Given the description of an element on the screen output the (x, y) to click on. 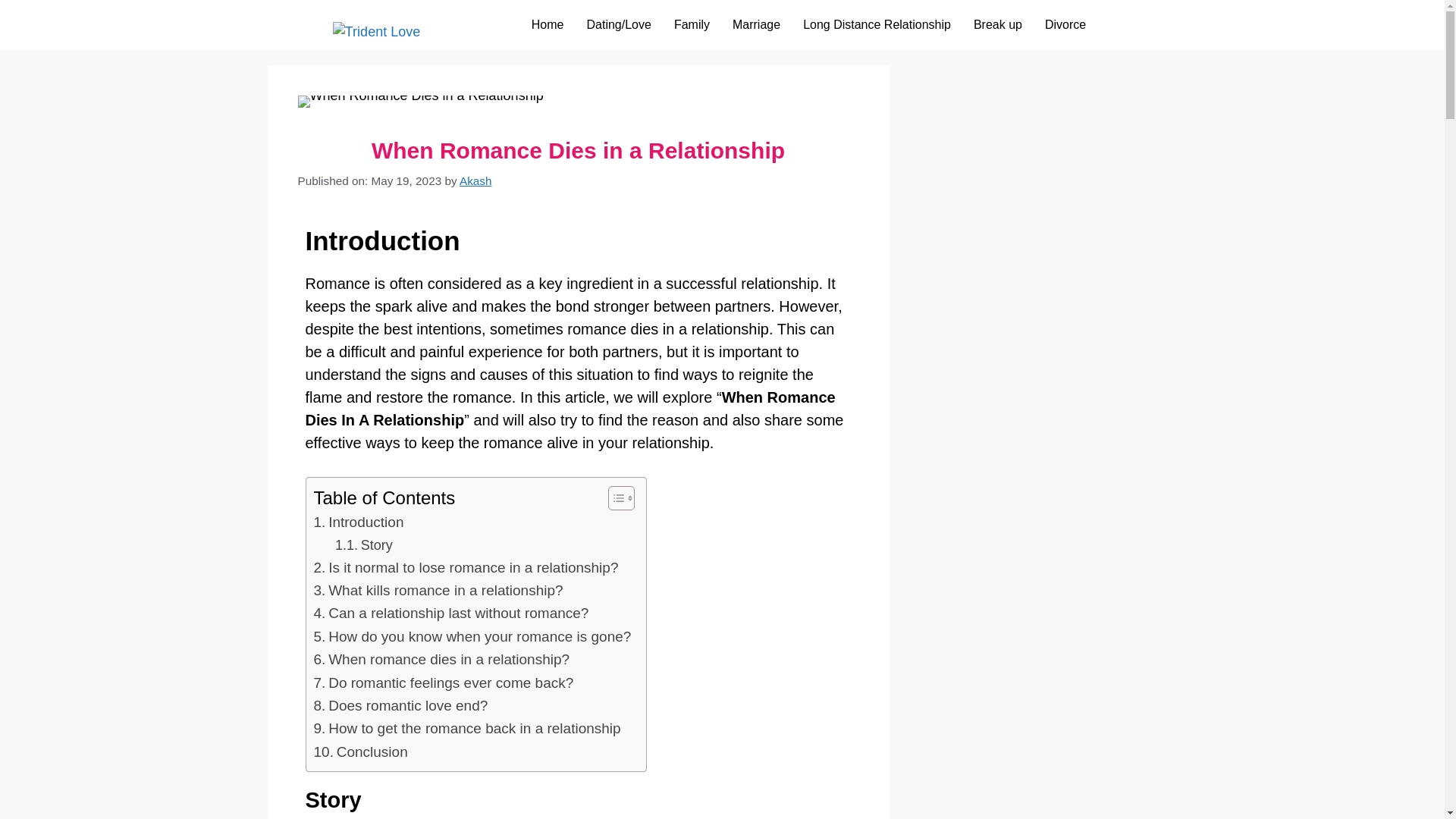
Does romantic love end? (400, 705)
Story (363, 545)
Long Distance Relationship (877, 24)
Story (363, 545)
How to get the romance back in a relationship (467, 728)
View all posts by Akash (476, 180)
When romance dies in a relationship? (442, 659)
Introduction (359, 522)
When romance dies in a relationship? (442, 659)
How do you know when your romance is gone? (472, 636)
